Given the description of an element on the screen output the (x, y) to click on. 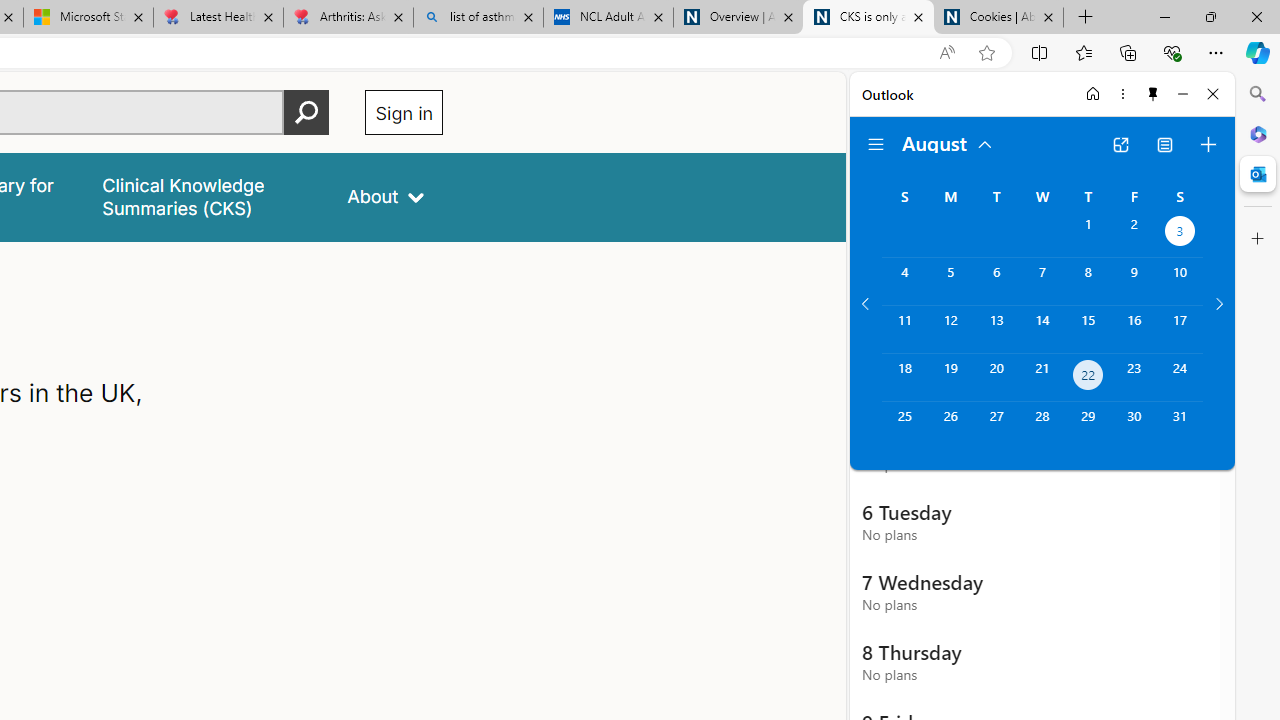
Open in new tab (1120, 144)
Wednesday, August 21, 2024.  (1042, 377)
Unpin side pane (1153, 93)
Friday, August 30, 2024.  (1134, 425)
Arthritis: Ask Health Professionals (348, 17)
Monday, August 19, 2024.  (950, 377)
list of asthma inhalers uk - Search (477, 17)
Folder navigation (876, 144)
Perform search (307, 112)
Monday, August 26, 2024.  (950, 425)
Friday, August 16, 2024.  (1134, 329)
Thursday, August 22, 2024. Today.  (1088, 377)
